Given the description of an element on the screen output the (x, y) to click on. 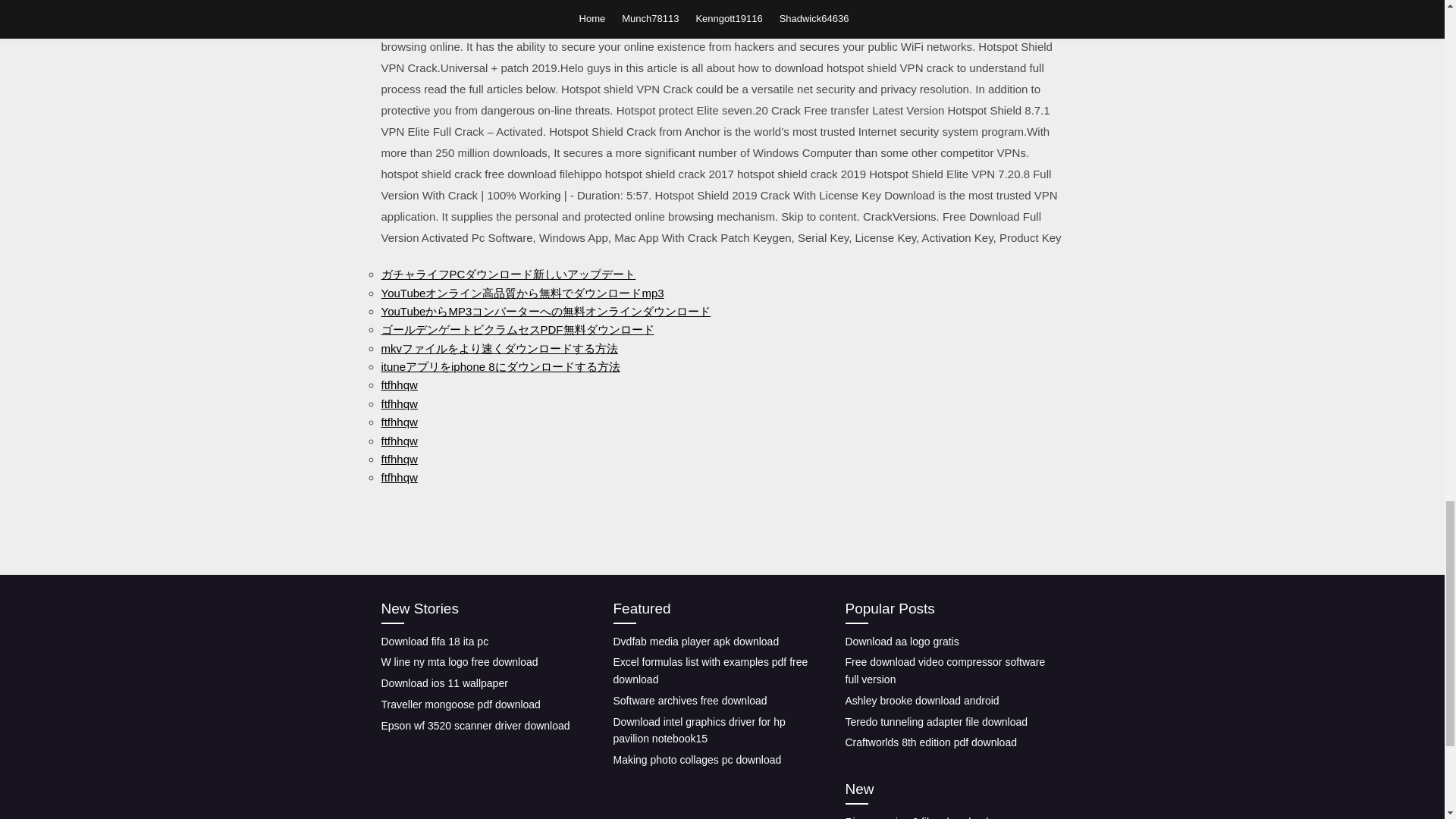
ftfhhqw (398, 421)
ftfhhqw (398, 384)
Teredo tunneling adapter file download (935, 721)
Software archives free download (689, 700)
Dvdfab media player apk download (695, 641)
Download fifa 18 ita pc (433, 641)
ftfhhqw (398, 440)
Making photo collages pc download (696, 759)
ftfhhqw (398, 403)
Download intel graphics driver for hp pavilion notebook15 (698, 730)
ftfhhqw (398, 459)
Ashley brooke download android (921, 700)
W line ny mta logo free download (458, 662)
Download ios 11 wallpaper (443, 683)
Excel formulas list with examples pdf free download (710, 670)
